Given the description of an element on the screen output the (x, y) to click on. 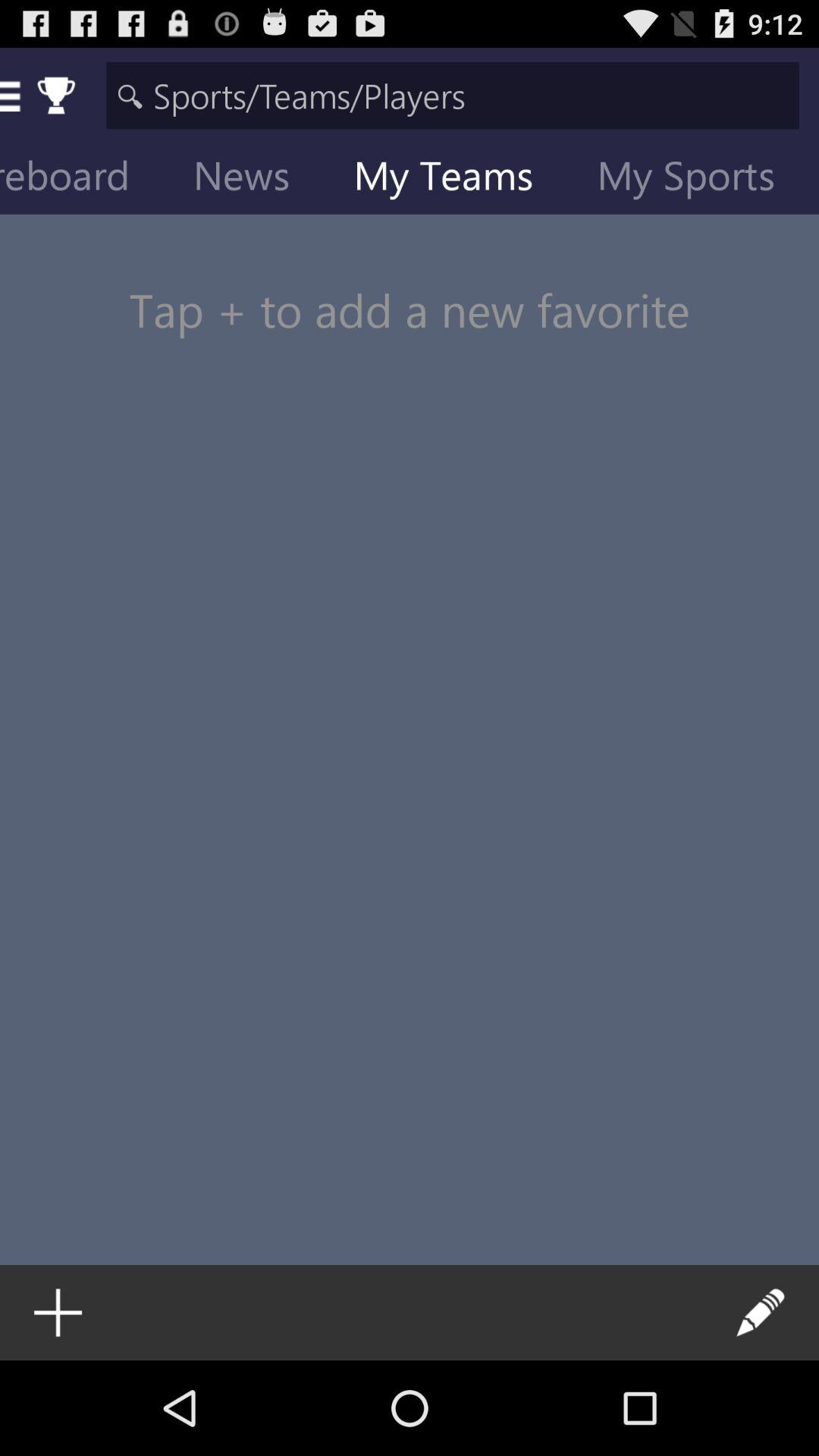
flip to the news icon (253, 178)
